Given the description of an element on the screen output the (x, y) to click on. 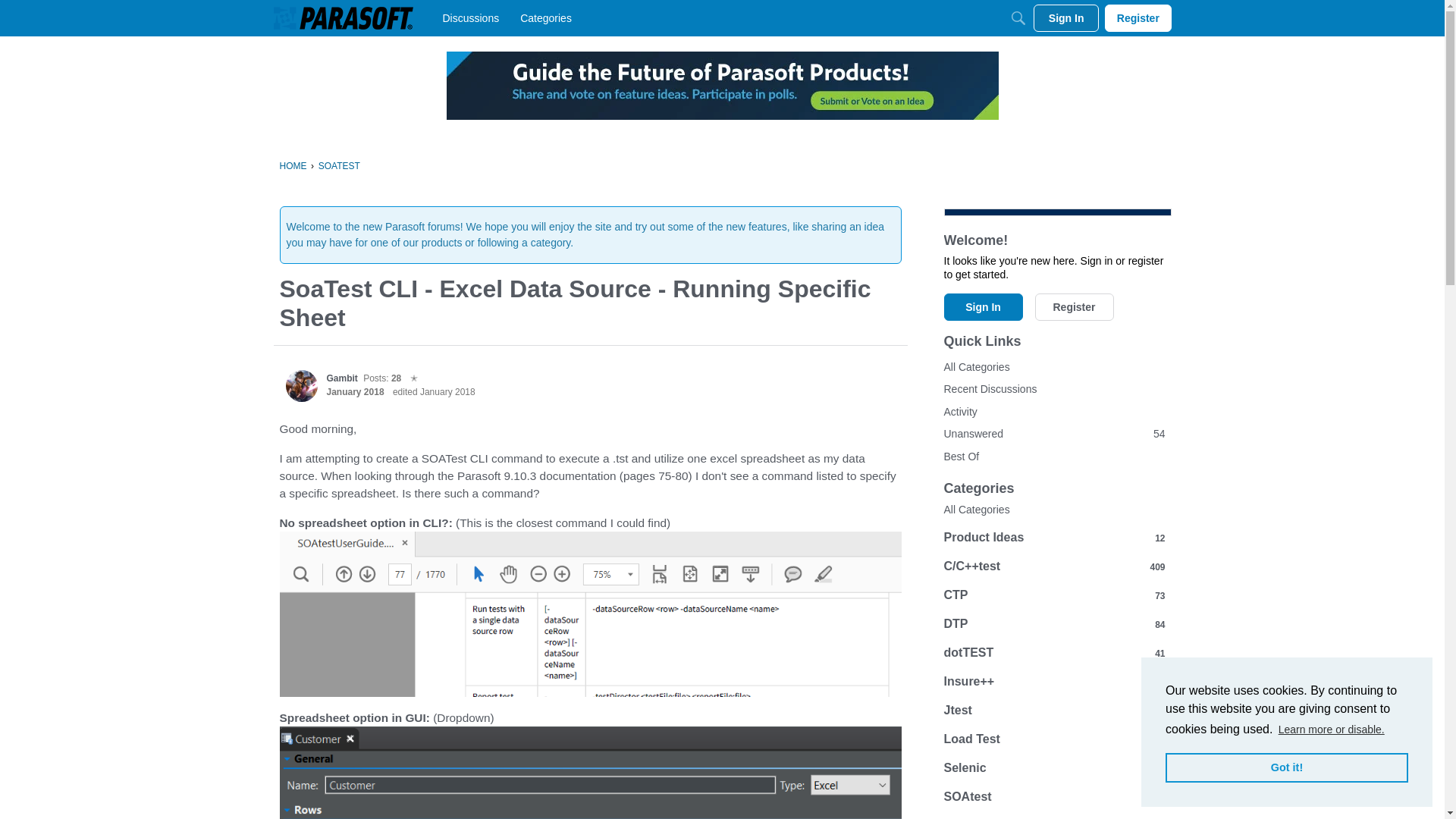
Gambit (301, 386)
January 2018 (355, 391)
Register (1137, 17)
Search (1018, 17)
Edited January 9, 2018 5:58PM by Gambit. (434, 391)
Categories (545, 17)
Discussions (470, 17)
Got it! (1286, 767)
Learn more or disable. (1331, 729)
Sign In (1066, 17)
